Given the description of an element on the screen output the (x, y) to click on. 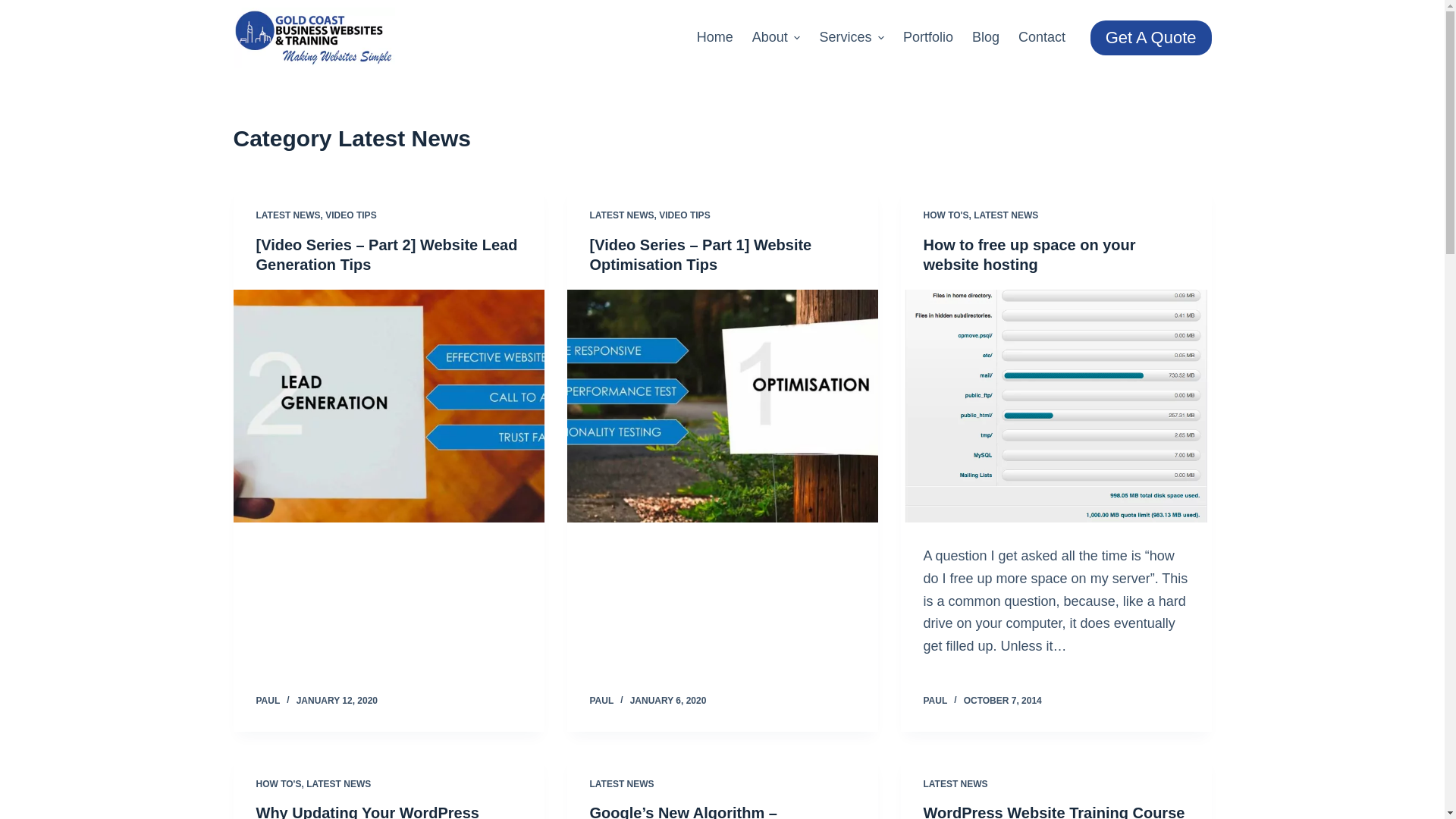
LATEST NEWS Element type: text (955, 783)
LATEST NEWS Element type: text (621, 783)
HOW TO'S Element type: text (278, 783)
Get A Quote Element type: text (1150, 37)
HOW TO'S Element type: text (946, 215)
Home Element type: text (714, 37)
Blog Element type: text (986, 37)
Portfolio Element type: text (927, 37)
LATEST NEWS Element type: text (338, 783)
Services Element type: text (851, 37)
PAUL Element type: text (268, 700)
Skip to content Element type: text (15, 7)
LATEST NEWS Element type: text (621, 215)
LATEST NEWS Element type: text (288, 215)
VIDEO TIPS Element type: text (683, 215)
Contact Element type: text (1042, 37)
PAUL Element type: text (935, 700)
PAUL Element type: text (601, 700)
LATEST NEWS Element type: text (1005, 215)
How to free up space on your website hosting Element type: text (1029, 254)
VIDEO TIPS Element type: text (350, 215)
About Element type: text (775, 37)
